Given the description of an element on the screen output the (x, y) to click on. 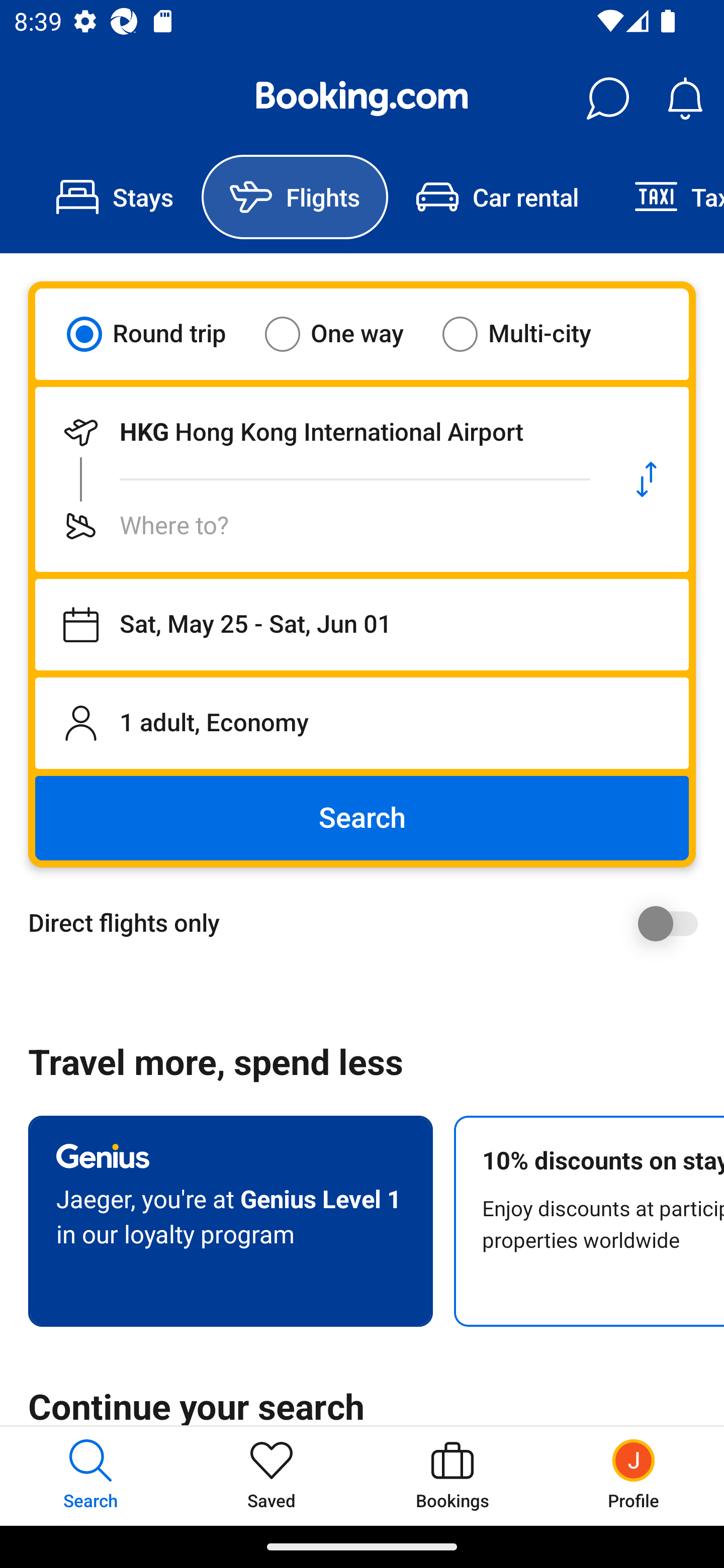
Messages (607, 98)
Notifications (685, 98)
Stays (114, 197)
Flights (294, 197)
Car rental (497, 197)
Taxi (665, 197)
One way (346, 333)
Multi-city (528, 333)
Departing from HKG Hong Kong International Airport (319, 432)
Swap departure location and destination (646, 479)
Flying to  (319, 525)
Departing on Sat, May 25, returning on Sat, Jun 01 (361, 624)
1 adult, Economy (361, 722)
Search (361, 818)
Direct flights only (369, 923)
Saved (271, 1475)
Bookings (452, 1475)
Profile (633, 1475)
